Given the description of an element on the screen output the (x, y) to click on. 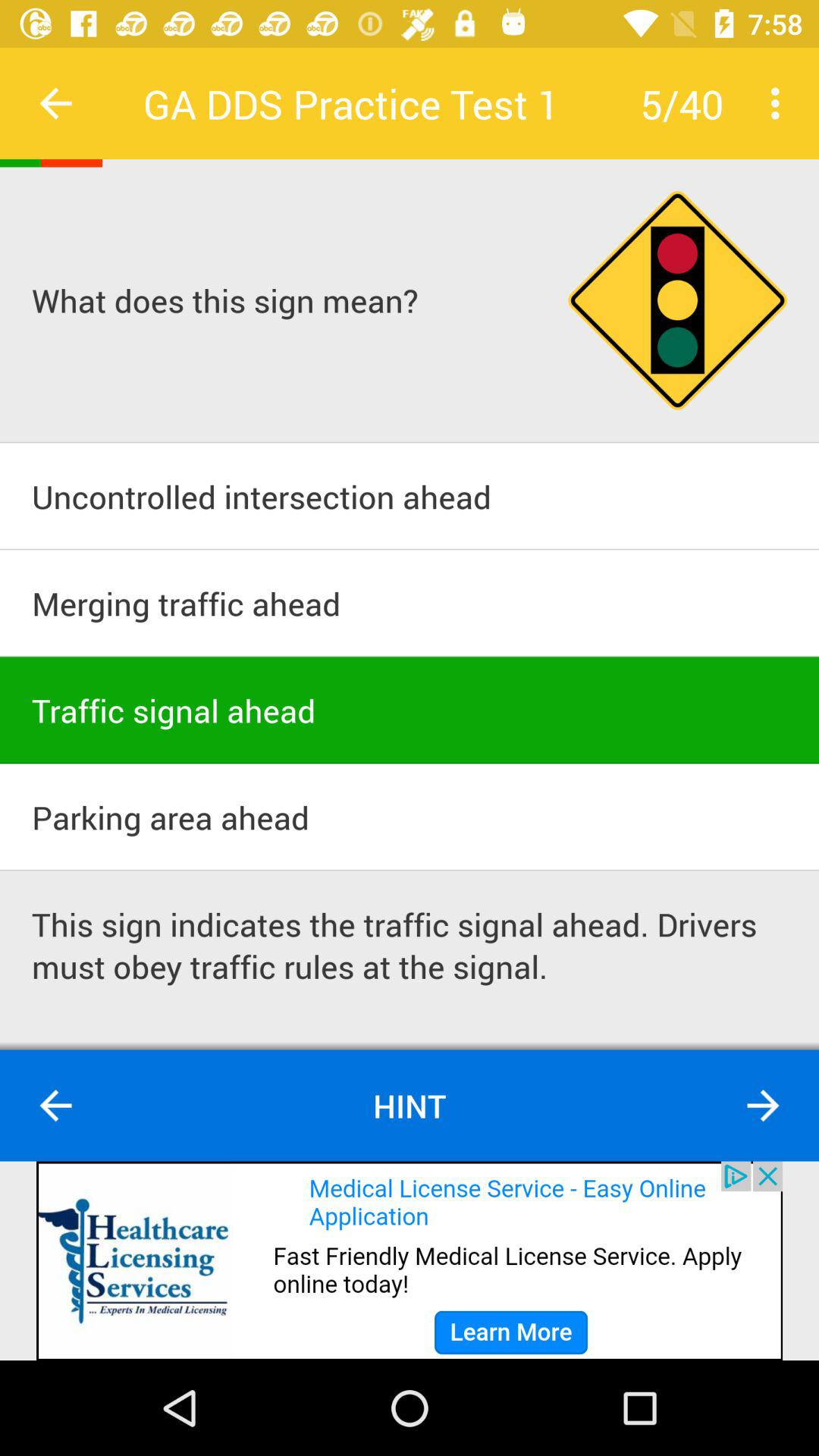
traffic symbol sign (677, 300)
